Given the description of an element on the screen output the (x, y) to click on. 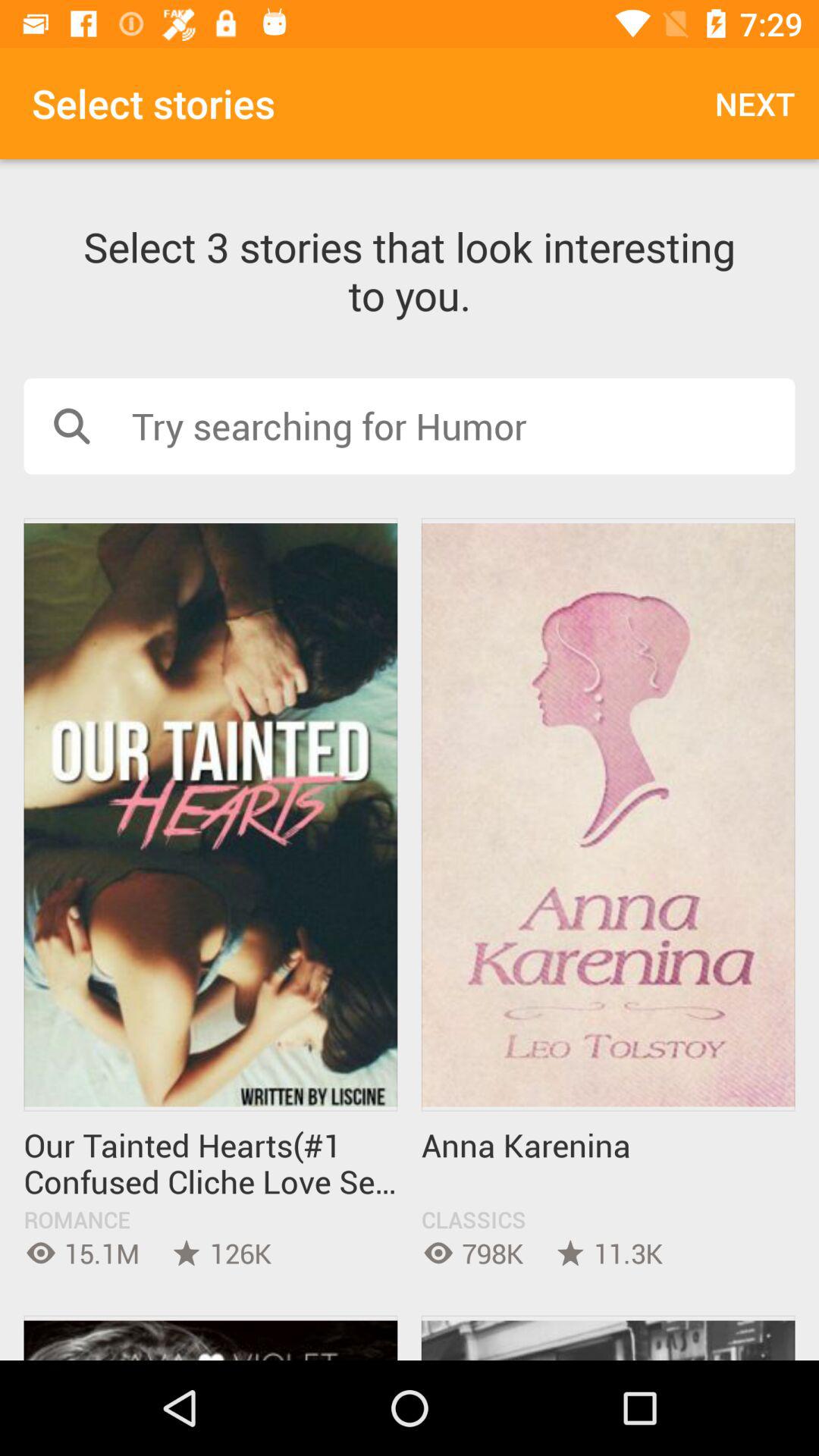
swipe to next icon (755, 103)
